Given the description of an element on the screen output the (x, y) to click on. 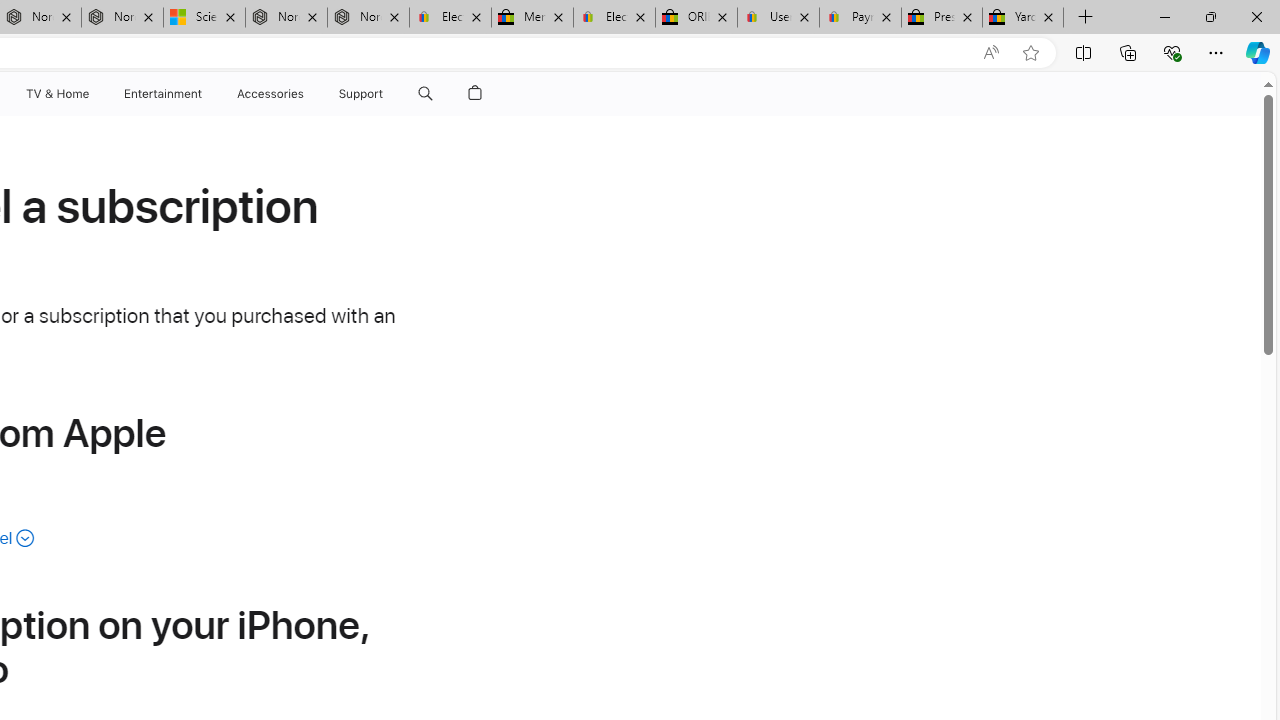
Payments Terms of Use | eBay.com (860, 17)
Add this page to favorites (Ctrl+D) (1030, 53)
Accessories menu (306, 93)
Nordace - Summer Adventures 2024 (285, 17)
Support menu (387, 93)
Copilot (Ctrl+Shift+.) (1258, 52)
Support (361, 93)
Accessories (269, 93)
Browser essentials (1171, 52)
